Given the description of an element on the screen output the (x, y) to click on. 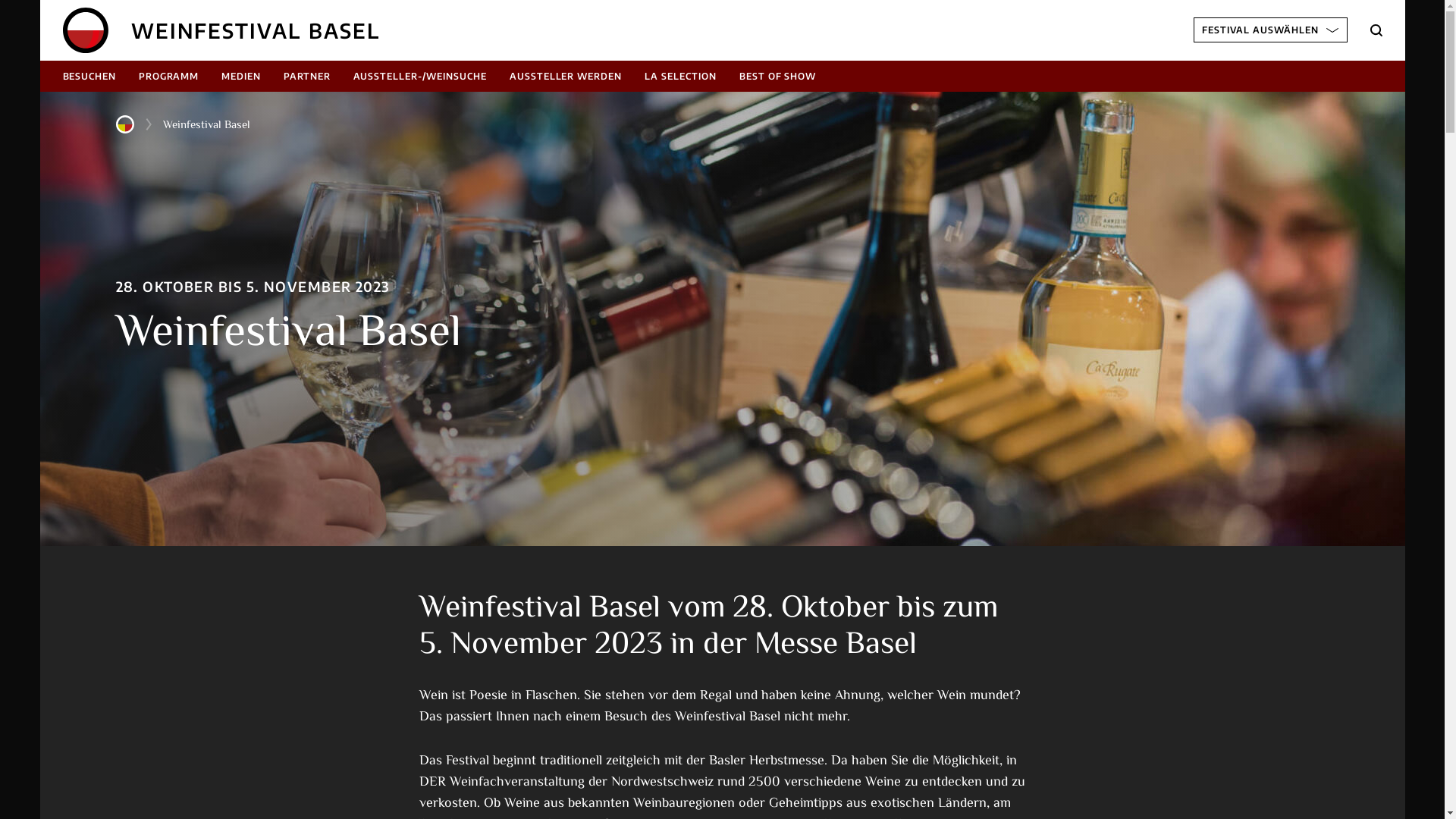
BEST OF SHOW Element type: text (777, 75)
MEDIEN Element type: text (240, 75)
PARTNER Element type: text (306, 75)
BESUCHEN Element type: text (89, 75)
AUSSTELLER-/WEINSUCHE Element type: text (419, 75)
PROGRAMM Element type: text (168, 75)
AUSSTELLER WERDEN Element type: text (565, 75)
LA SELECTION Element type: text (680, 75)
